Given the description of an element on the screen output the (x, y) to click on. 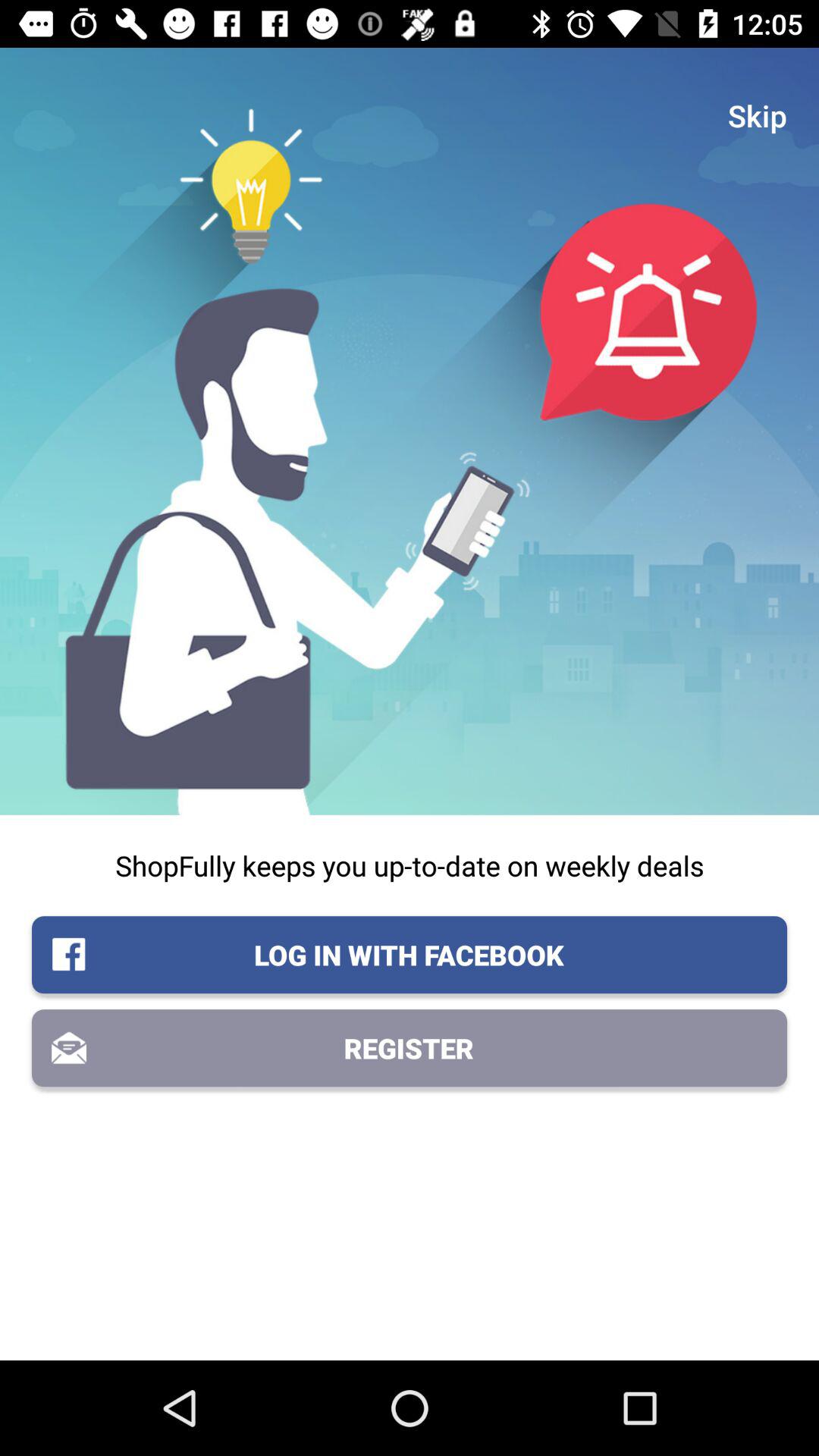
tap skip (757, 115)
